Given the description of an element on the screen output the (x, y) to click on. 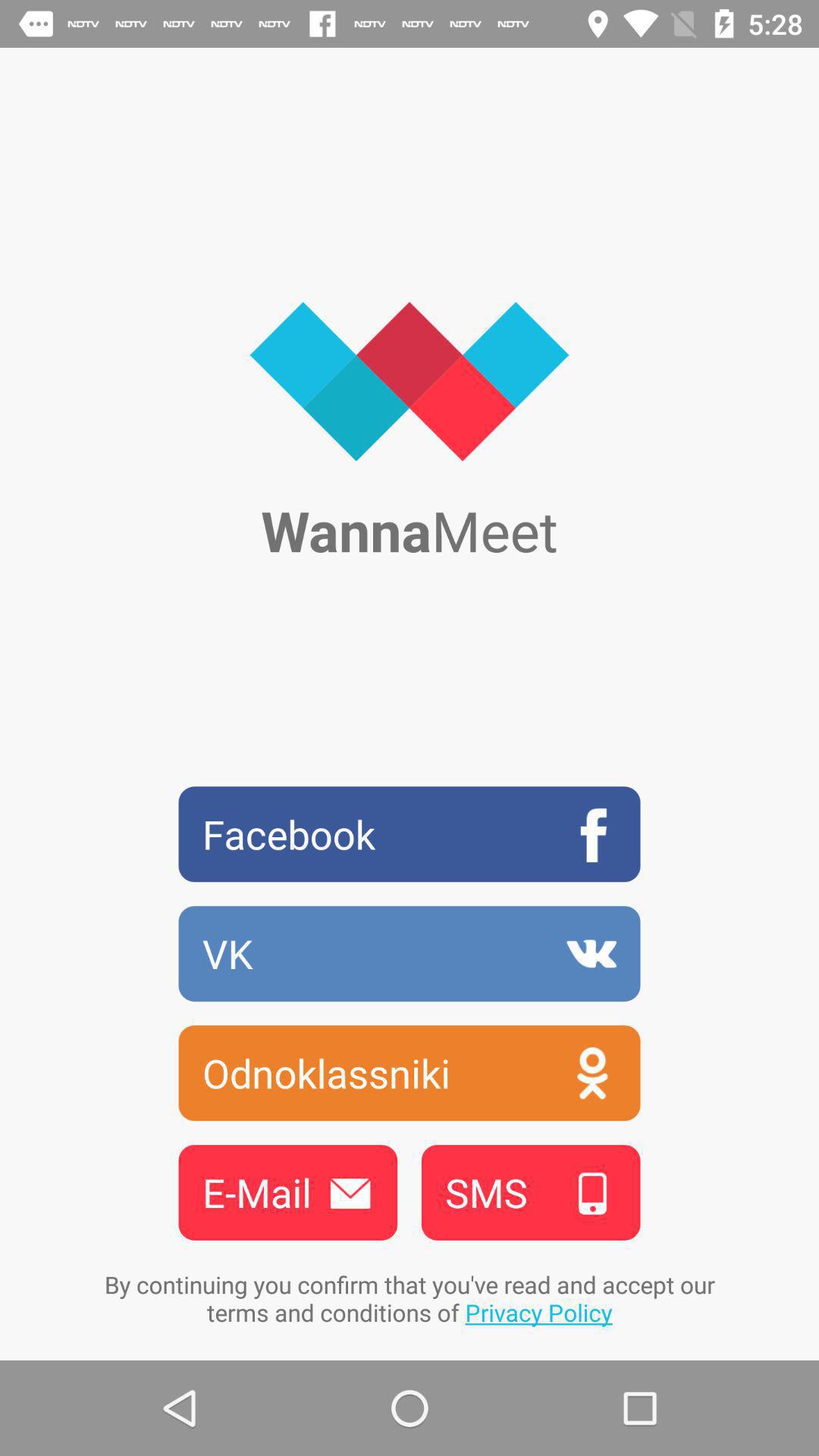
turn on the icon above by continuing you item (287, 1192)
